Given the description of an element on the screen output the (x, y) to click on. 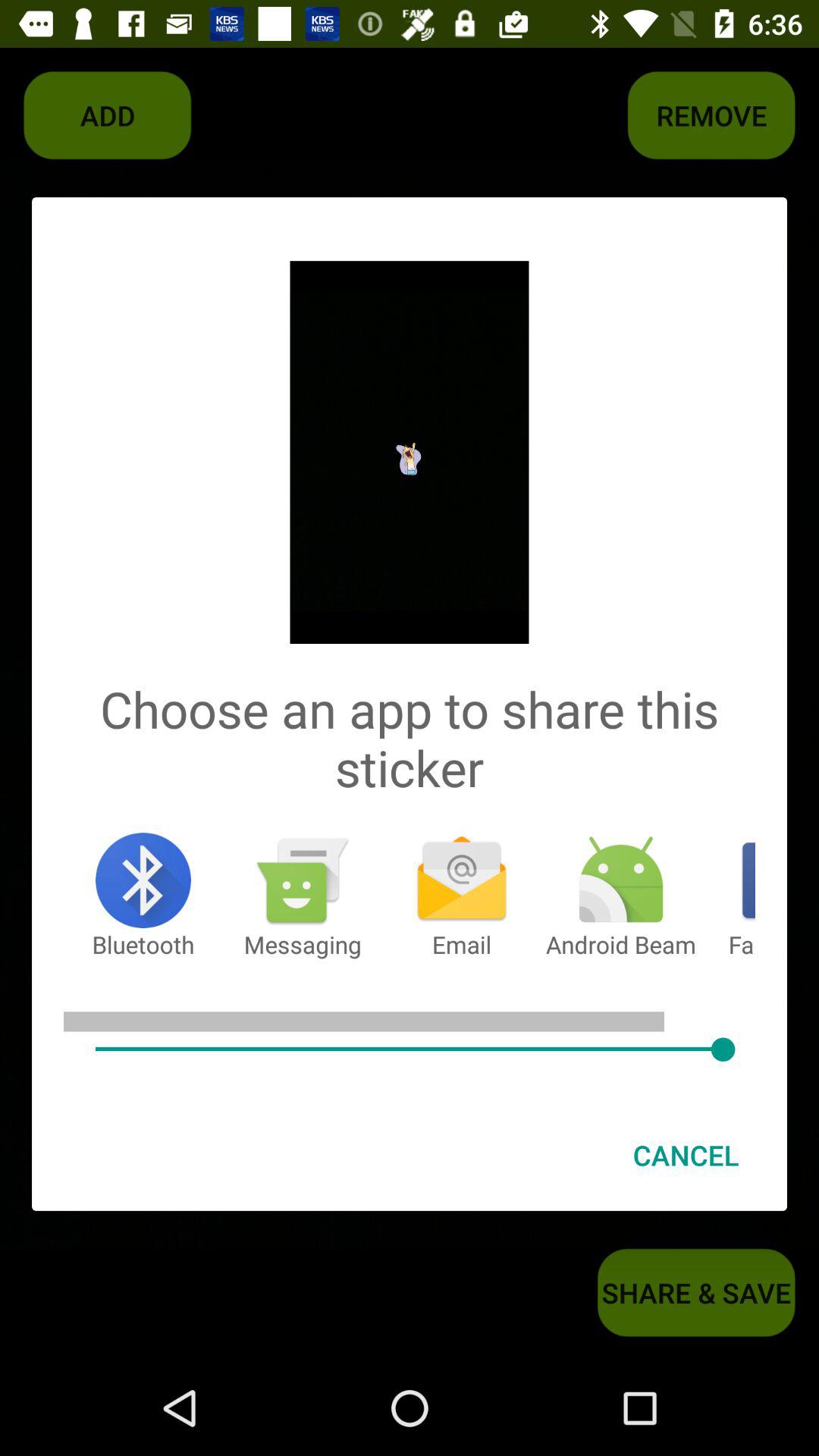
jump until cancel item (686, 1154)
